Given the description of an element on the screen output the (x, y) to click on. 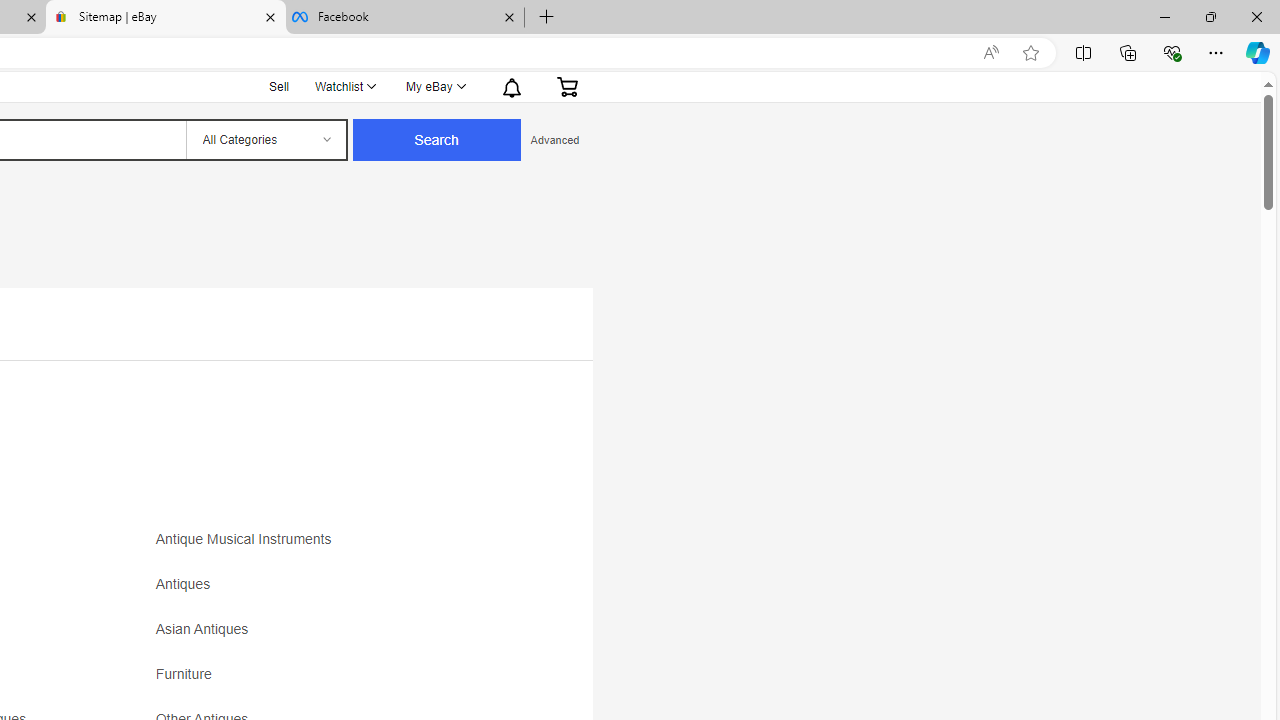
My eBayExpand My eBay (434, 86)
